Given the description of an element on the screen output the (x, y) to click on. 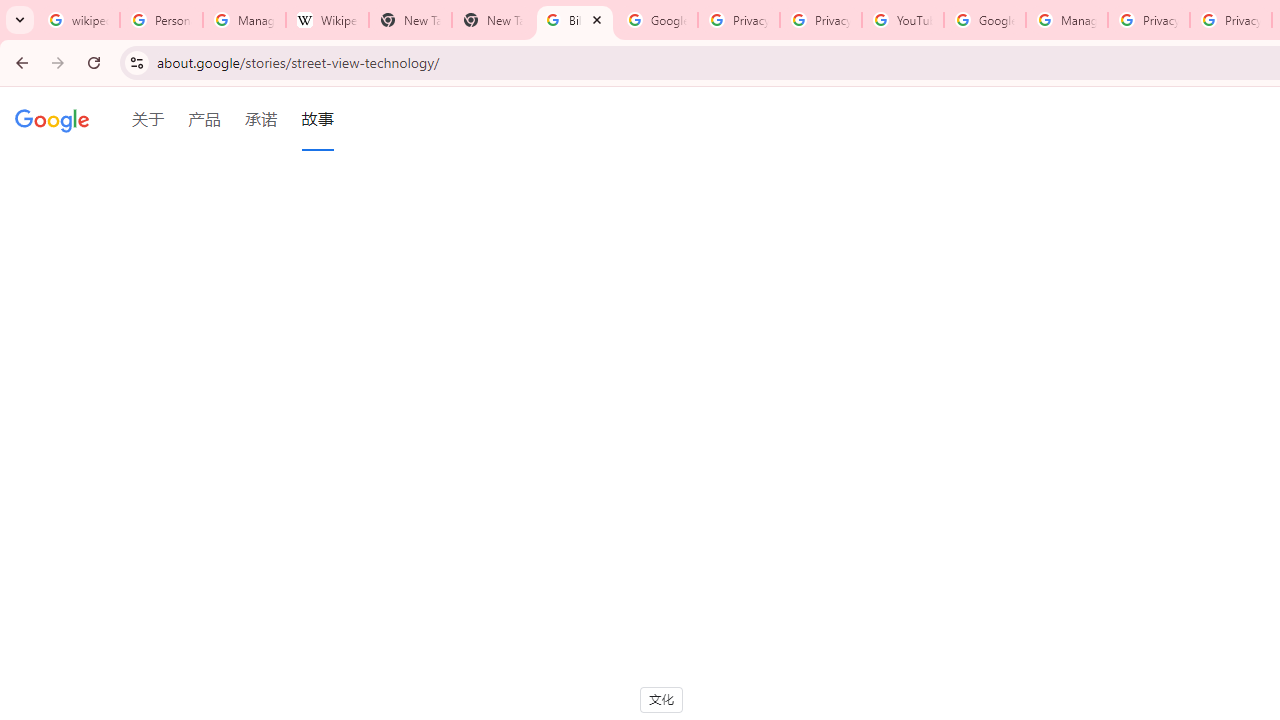
New Tab (409, 20)
New Tab (492, 20)
Personalization & Google Search results - Google Search Help (161, 20)
